Given the description of an element on the screen output the (x, y) to click on. 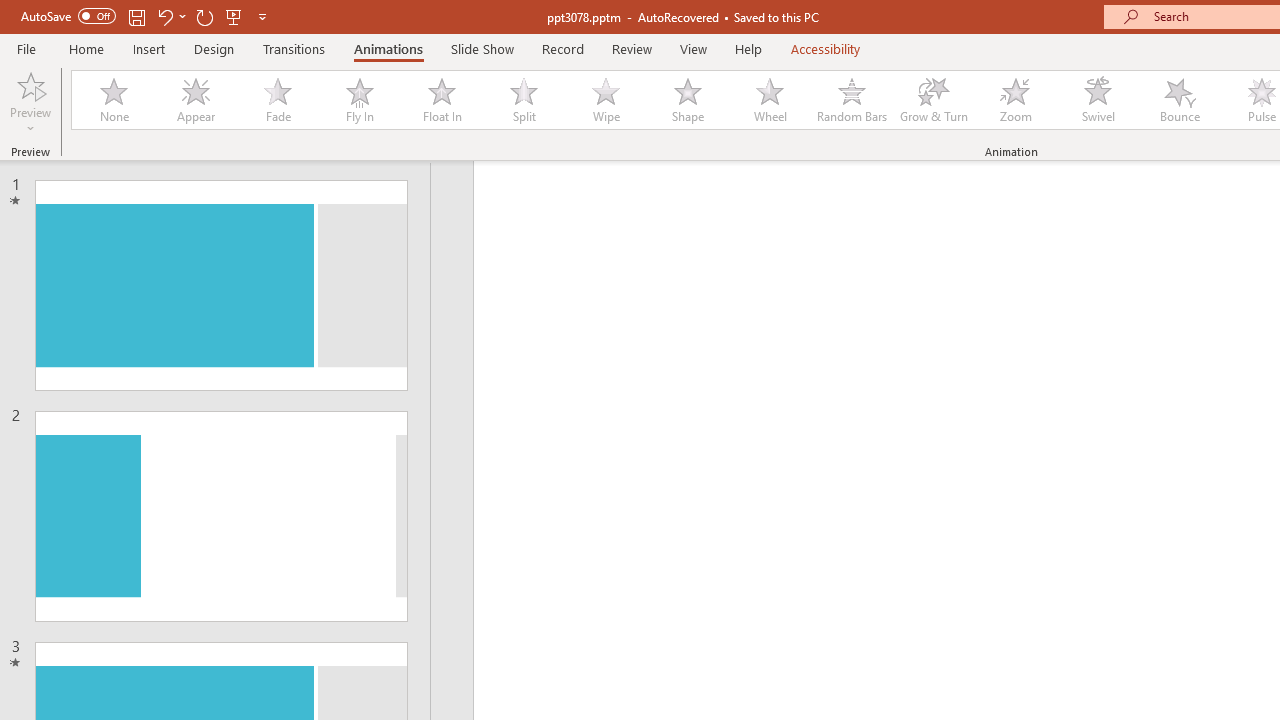
None (113, 100)
Bounce (1180, 100)
Split (523, 100)
Shape (687, 100)
